Given the description of an element on the screen output the (x, y) to click on. 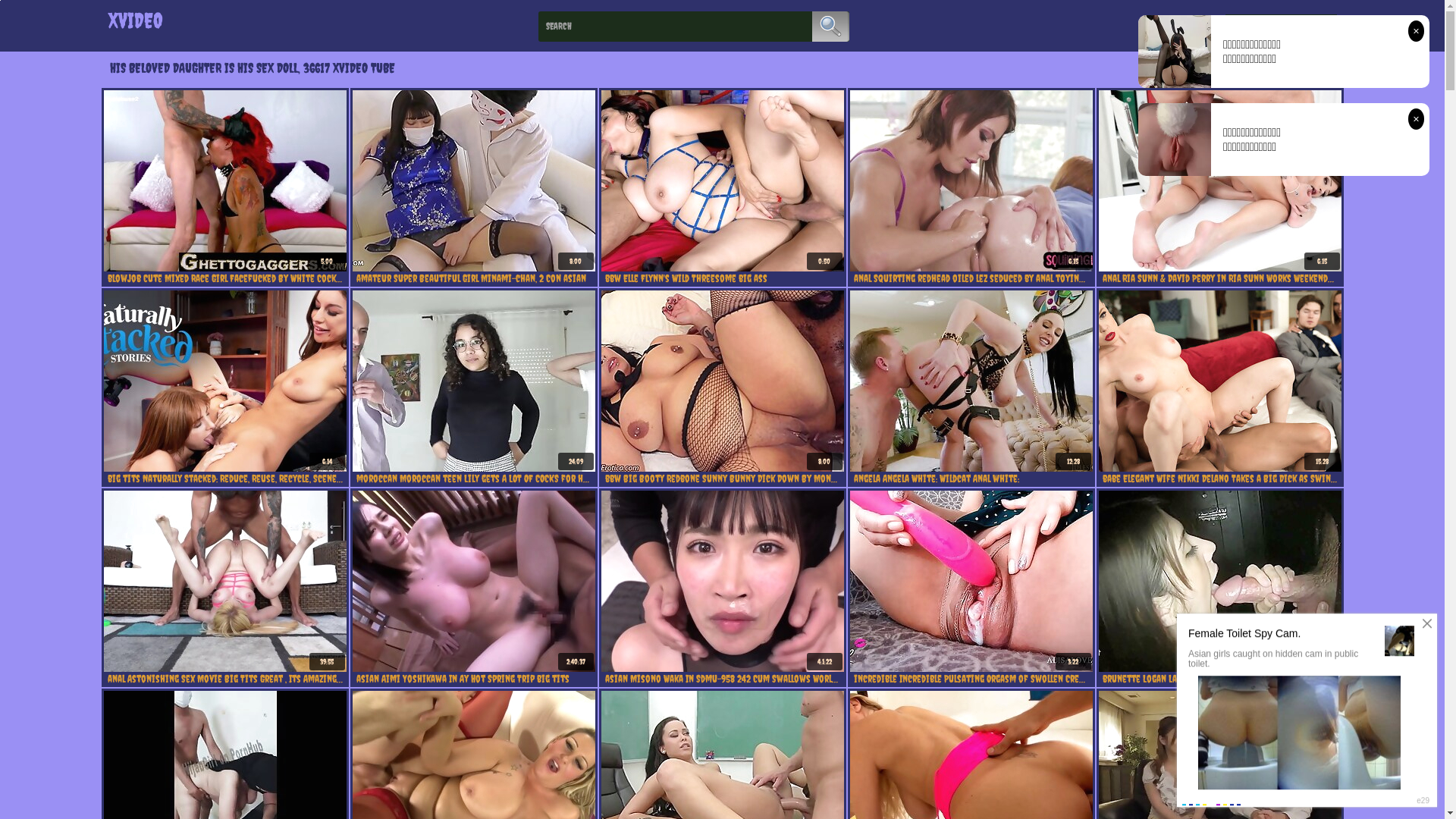
7:19 Element type: text (1219, 580)
39:55 Element type: text (224, 580)
5:00 Element type: text (224, 180)
8:00 Element type: text (721, 380)
6:15 Element type: text (1219, 180)
6:15 Element type: text (970, 180)
bbw Elle Flynn's Wild Threesome big ass Element type: text (722, 278)
15:28 Element type: text (1219, 380)
3:22 Element type: text (970, 580)
12:28 Element type: text (970, 380)
24:09 Element type: text (472, 380)
amateur Super Beautiful Girl Minami-chan, 2 Con asian Element type: text (473, 278)
6:14 Element type: text (224, 380)
asian Aimi Yoshikawa In Ay Hot Spring Trip big tits Element type: text (473, 678)
0:50 Element type: text (721, 180)
8:00 Element type: text (472, 180)
4:1:22 Element type: text (721, 580)
angela Angela White: Wildcat Anal white: Element type: text (970, 478)
2:40:37 Element type: text (472, 580)
XVIDEO Element type: text (134, 19)
